Given the description of an element on the screen output the (x, y) to click on. 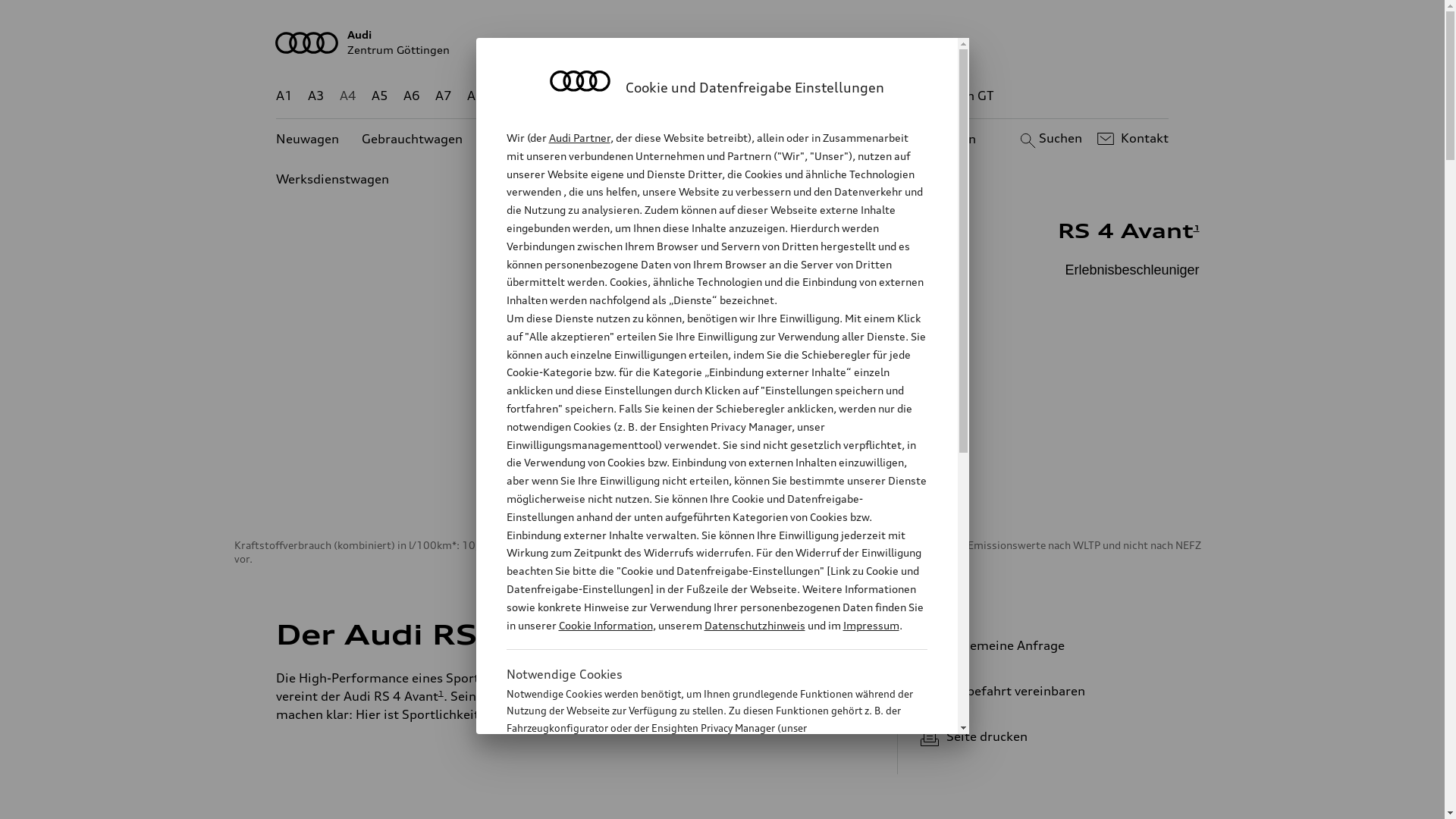
Werksdienstwagen Element type: text (332, 179)
g-tron Element type: text (903, 95)
A6 Element type: text (411, 95)
Q8 e-tron Element type: text (763, 95)
Angebote Element type: text (636, 139)
Neuwagen Element type: text (307, 139)
A7 Element type: text (443, 95)
Q4 e-tron Element type: text (592, 95)
1 Element type: text (1196, 227)
1 Element type: text (621, 631)
Allgemeine Anfrage Element type: text (1038, 645)
Q7 Element type: text (678, 95)
Kontakt Element type: text (1130, 138)
Probefahrt vereinbaren Element type: text (1038, 690)
Datenschutzhinweis Element type: text (753, 624)
1 Element type: text (440, 691)
Q3 Element type: text (540, 95)
e-tron GT Element type: text (965, 95)
RS Element type: text (861, 95)
Q5 Element type: text (645, 95)
A3 Element type: text (315, 95)
Cookie Information Element type: text (700, 802)
TT Element type: text (814, 95)
A4 Element type: text (347, 95)
A8 Element type: text (475, 95)
Impressum Element type: text (871, 624)
Q2 Element type: text (507, 95)
Gebrauchtwagen Element type: text (411, 139)
Cookie Information Element type: text (605, 624)
Kundenservice Element type: text (730, 139)
Suchen Element type: text (1049, 138)
Q8 Element type: text (710, 95)
Seite drucken Element type: text (1044, 736)
Audi Partner Element type: text (579, 137)
A5 Element type: text (379, 95)
A1 Element type: text (284, 95)
